Given the description of an element on the screen output the (x, y) to click on. 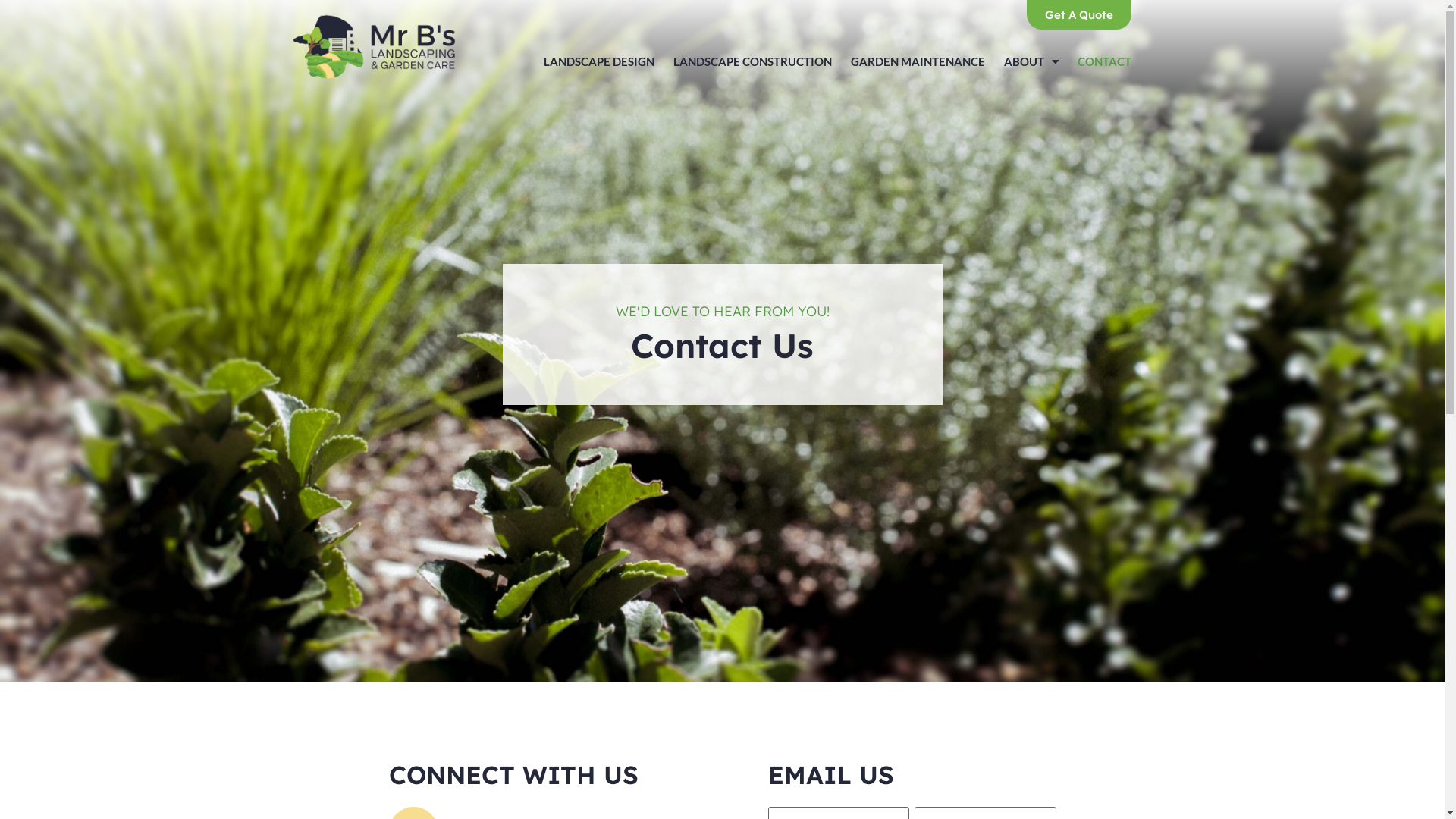
LANDSCAPE DESIGN Element type: text (598, 61)
Get A Quote Element type: text (1078, 14)
LANDSCAPE CONSTRUCTION Element type: text (752, 61)
CONTACT Element type: text (1104, 61)
ABOUT Element type: text (1031, 61)
GARDEN MAINTENANCE Element type: text (917, 61)
